Given the description of an element on the screen output the (x, y) to click on. 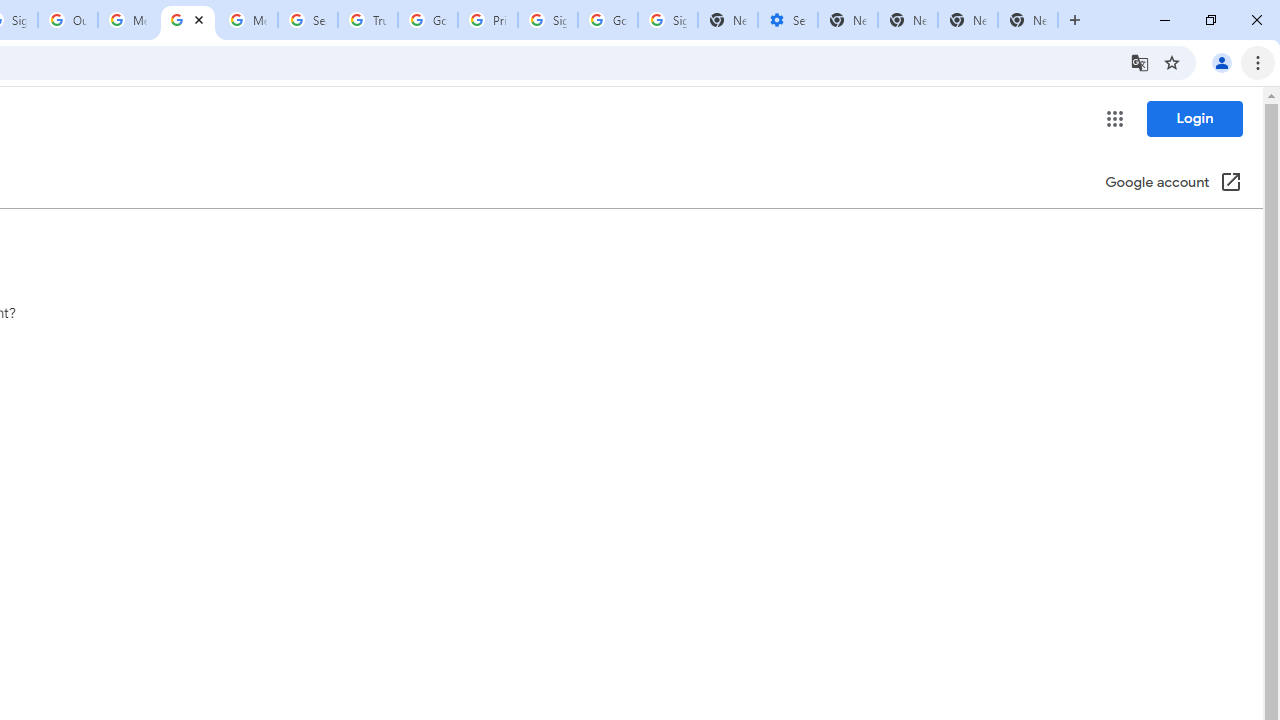
Login (1194, 118)
Translate this page (1139, 62)
Google Cybersecurity Innovations - Google Safety Center (607, 20)
Sign in - Google Accounts (548, 20)
New Tab (1028, 20)
Trusted Information and Content - Google Safety Center (367, 20)
